Given the description of an element on the screen output the (x, y) to click on. 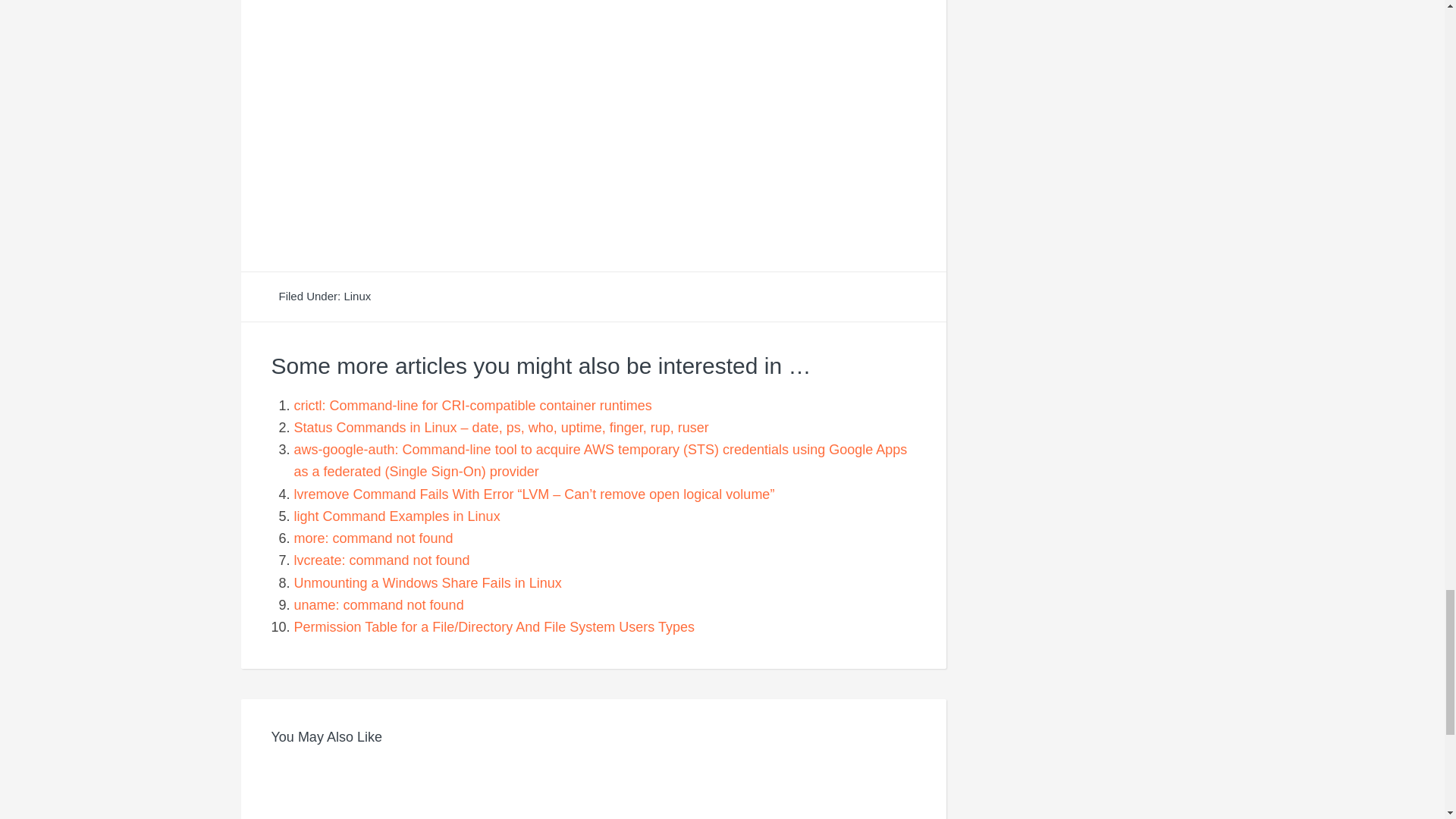
uname: command not found (379, 604)
Unmounting a Windows Share Fails in Linux (428, 581)
more: command not found (373, 538)
crictl: Command-line for CRI-compatible container runtimes (473, 404)
light Command Examples in Linux (397, 516)
Permanent Link tomore: command not found (373, 538)
Linux (357, 295)
Permanent Link tolvcreate: command not found (382, 560)
Permanent Link tolight Command Examples in Linux (397, 516)
